Given the description of an element on the screen output the (x, y) to click on. 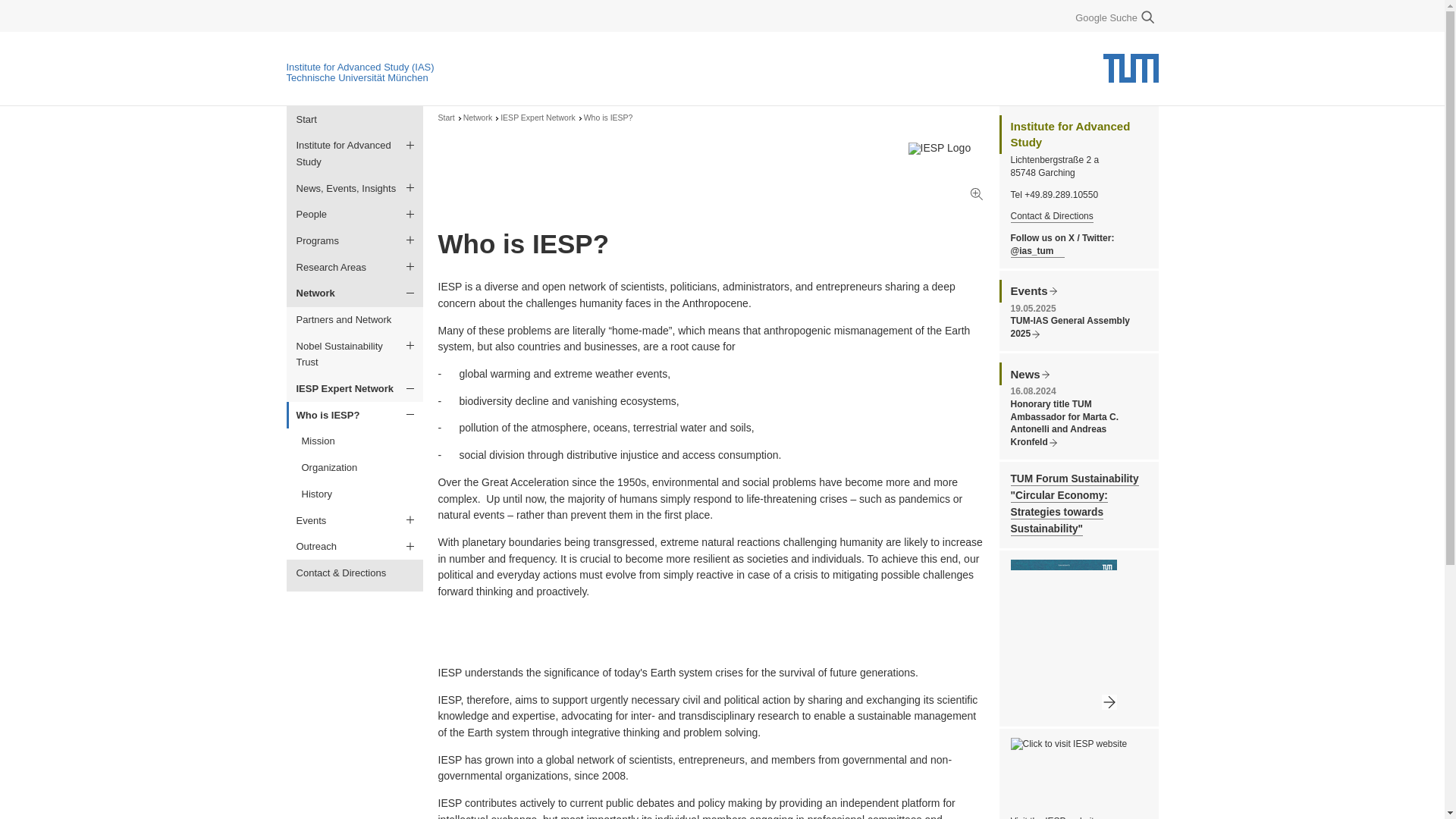
Start (446, 117)
Events (354, 519)
Network (478, 117)
TUM-IAS General Assembly 2025 (1069, 327)
Outreach (354, 546)
Mission (356, 441)
Start (354, 119)
Logo of IESP with text (1123, 772)
Organization (356, 468)
Research Areas (354, 266)
